Given the description of an element on the screen output the (x, y) to click on. 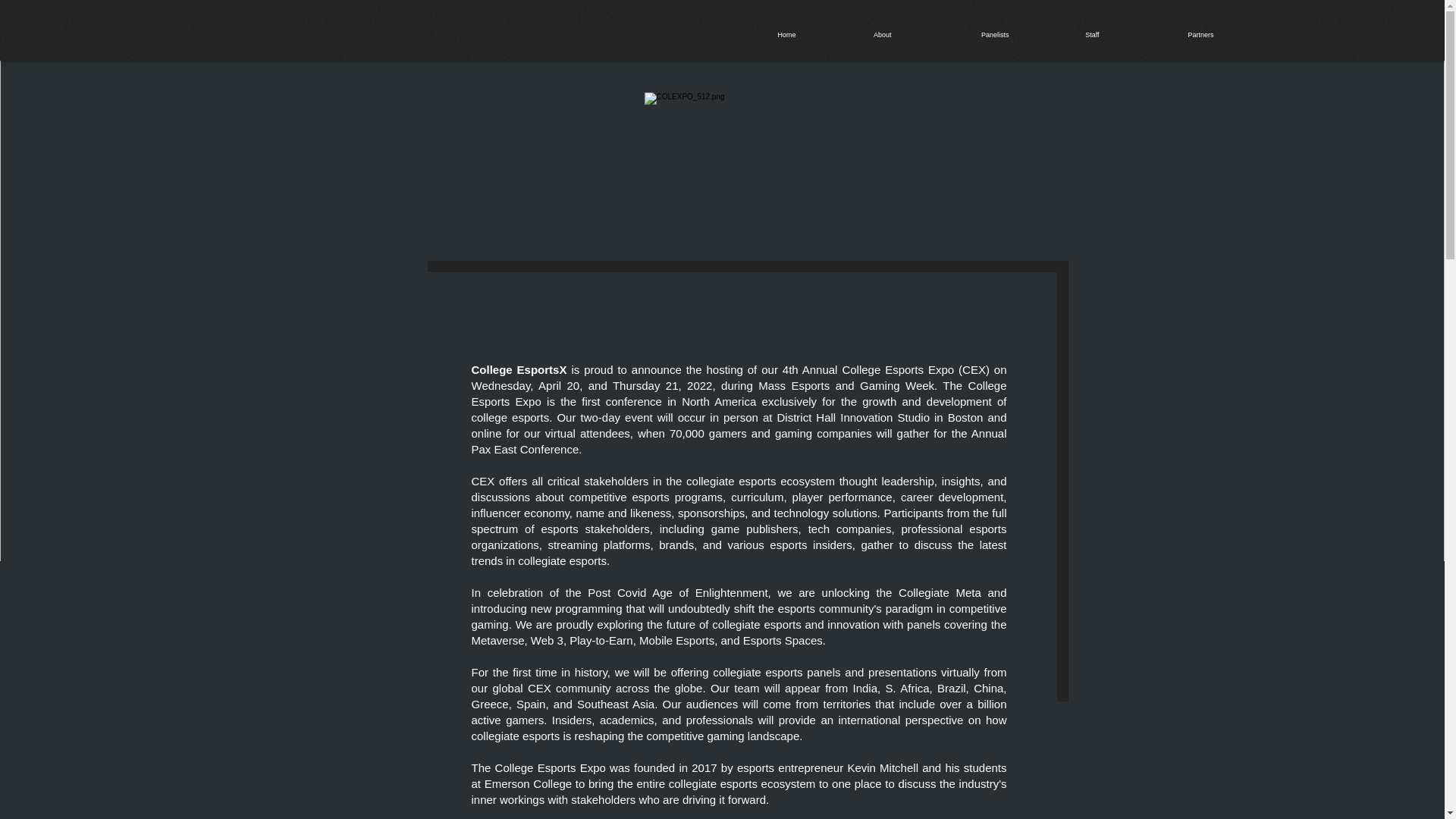
Partners (1164, 34)
Home (759, 34)
Panelists (958, 34)
Staff (1061, 34)
About (850, 34)
